Given the description of an element on the screen output the (x, y) to click on. 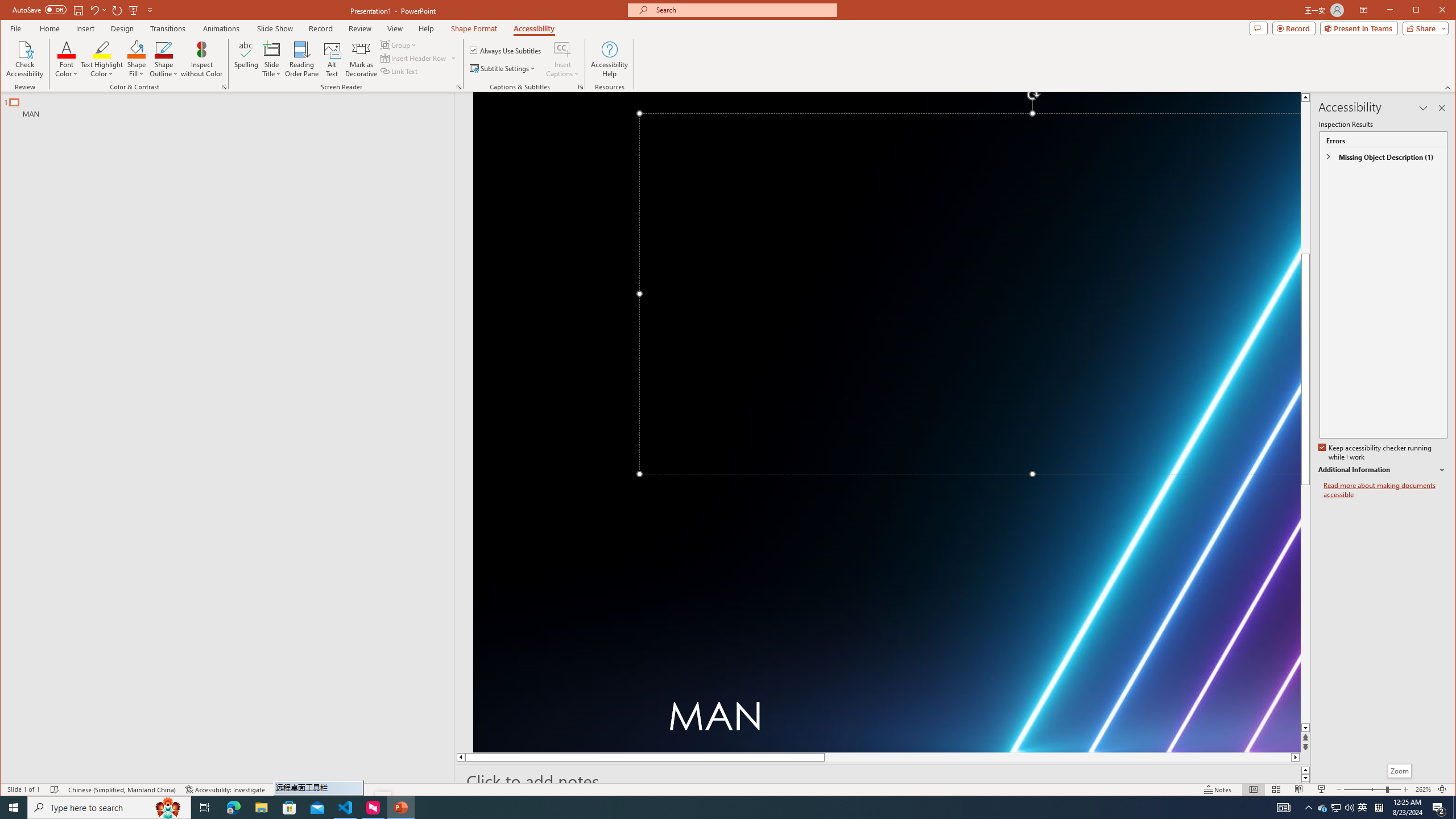
Slide Notes (882, 780)
Task View (204, 807)
Link Text (399, 70)
Ribbon Display Options (1364, 9)
Keep accessibility checker running while I work (1375, 452)
Insert Header Row (413, 57)
AutomationID: 4105 (1283, 807)
Show desktop (1454, 807)
Text Highlight Color No Color (102, 48)
Zoom to Fit  (1441, 789)
